Given the description of an element on the screen output the (x, y) to click on. 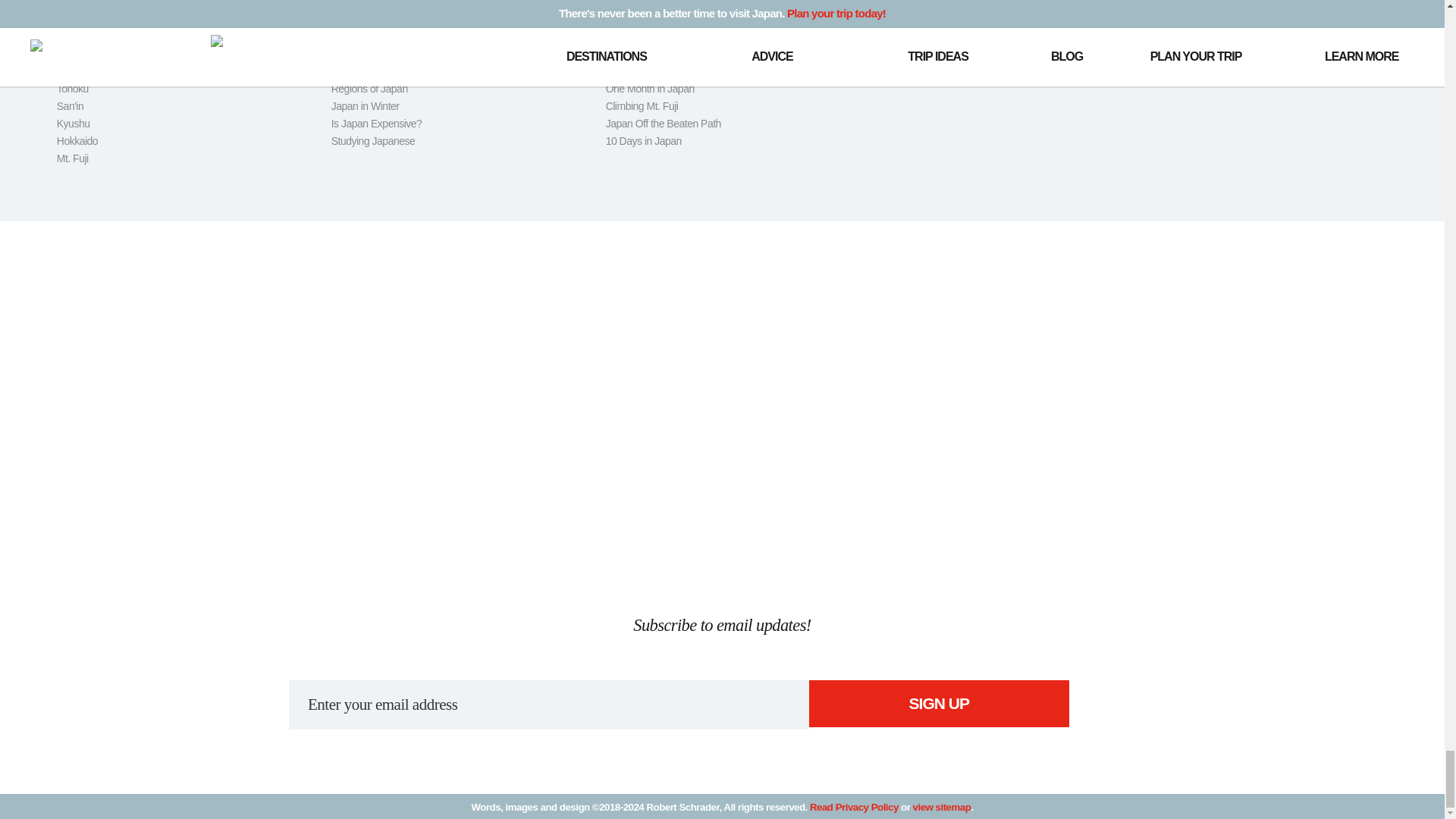
Sign Up (938, 703)
